Given the description of an element on the screen output the (x, y) to click on. 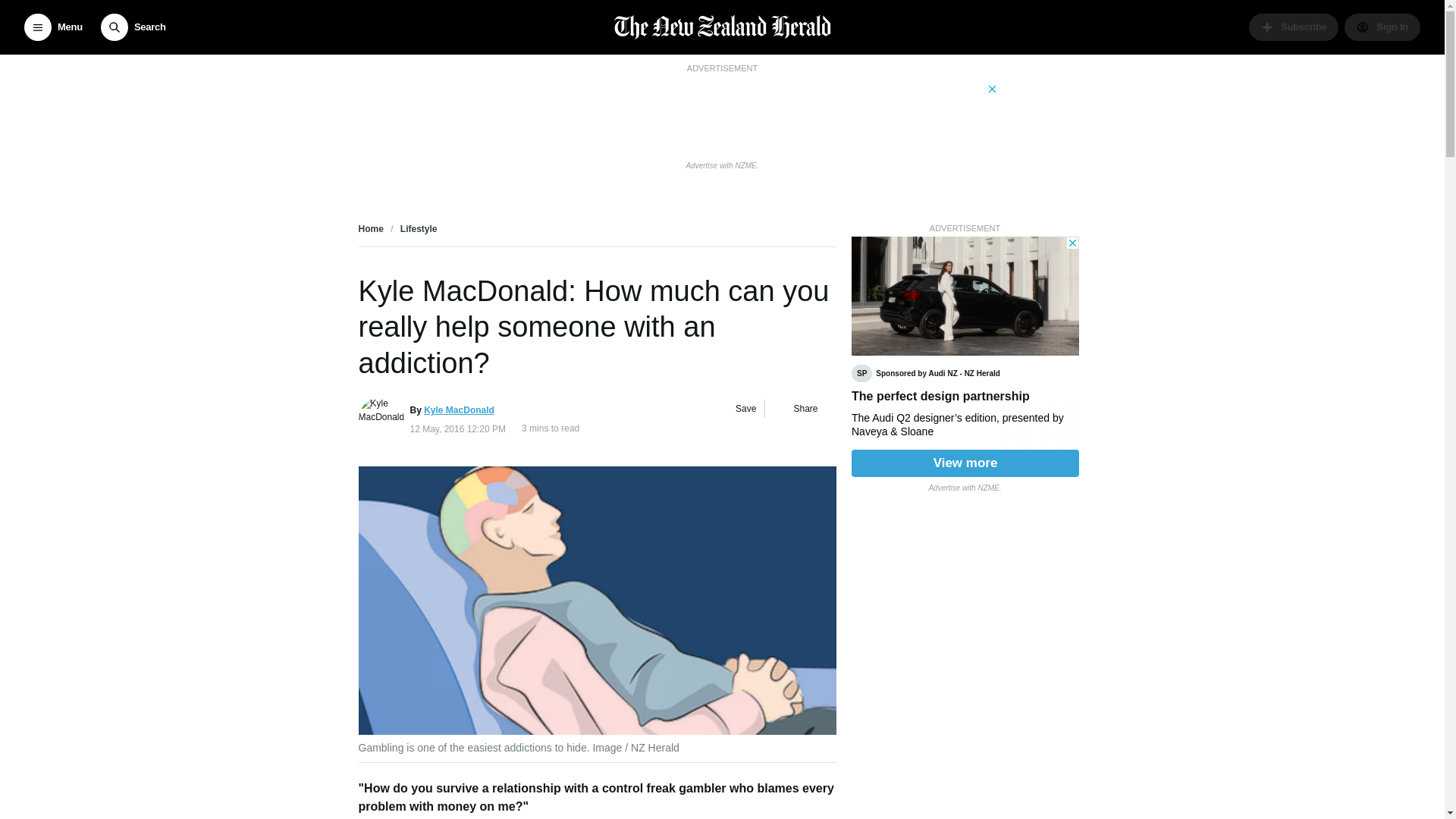
Subscribe (1294, 26)
Menu (53, 26)
Sign In (1382, 26)
Manage your account (1382, 26)
3rd party ad content (721, 115)
Search (132, 26)
3rd party ad content (964, 356)
